Given the description of an element on the screen output the (x, y) to click on. 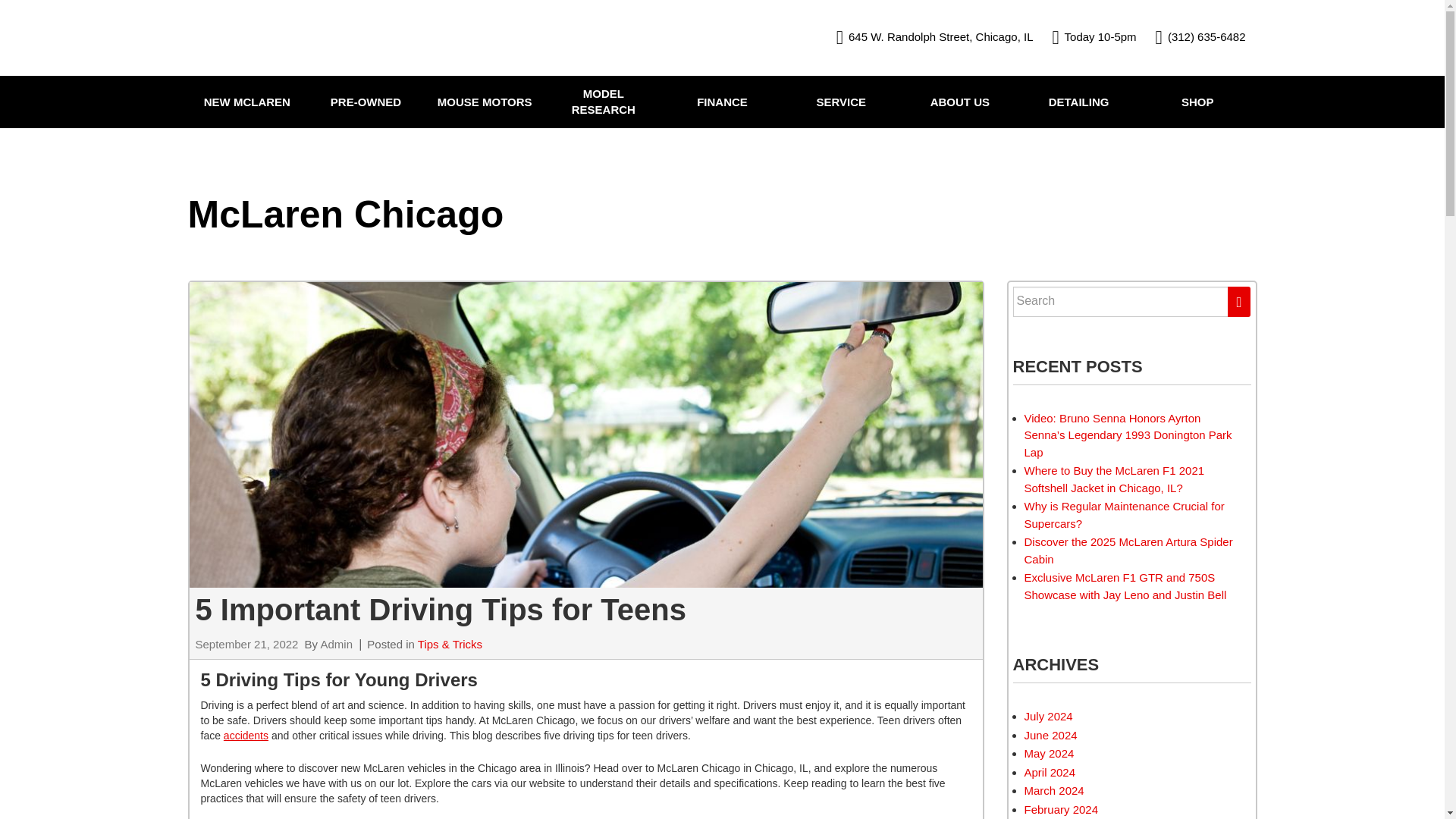
PRE-OWNED (365, 101)
645 W. Randolph Street, Chicago, IL (934, 37)
Today 10-5pm (1094, 37)
MODEL RESEARCH (603, 101)
MOUSE MOTORS (484, 101)
NEW MCLAREN (247, 101)
McLaren Chicago (295, 37)
